Given the description of an element on the screen output the (x, y) to click on. 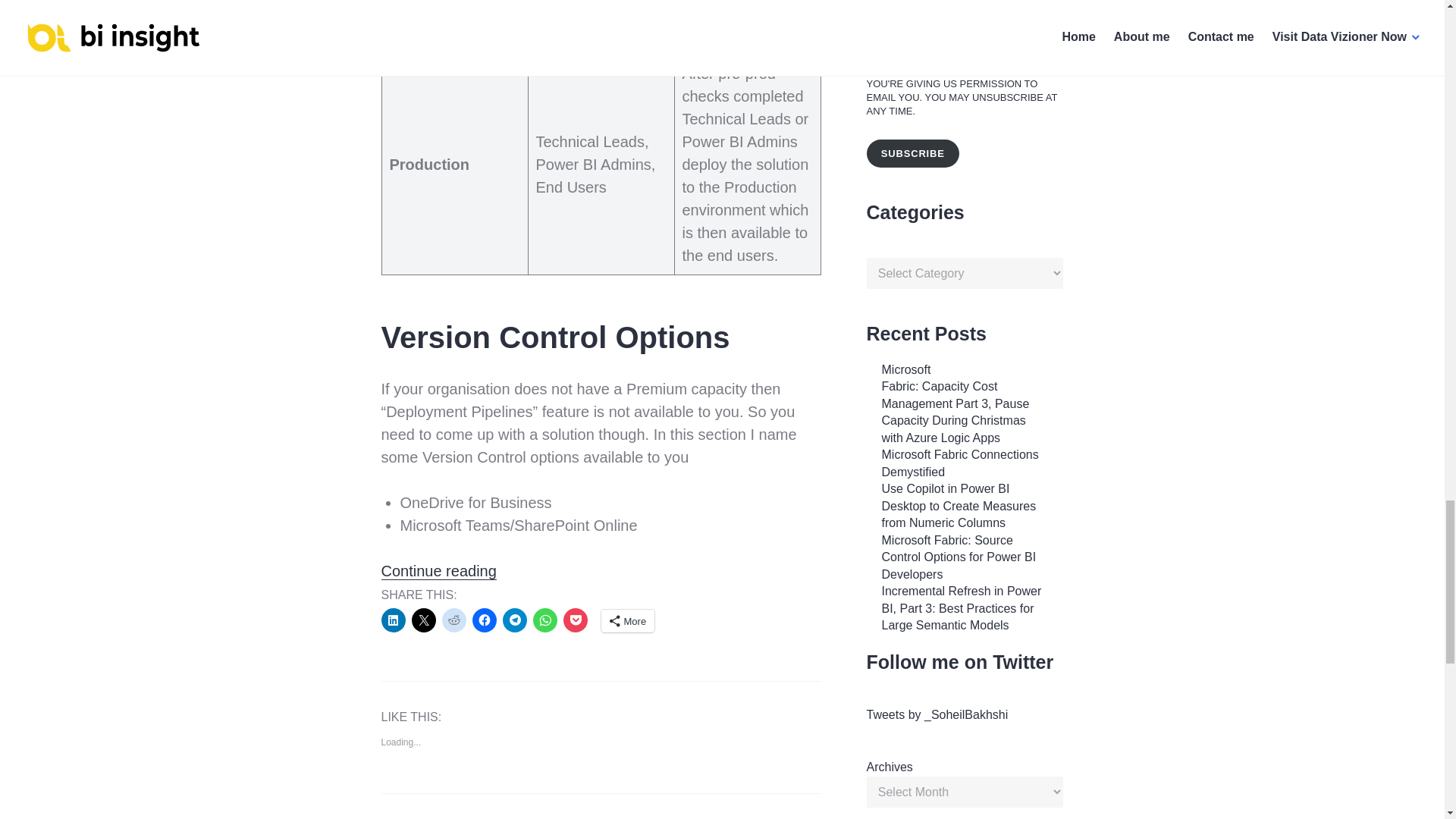
Click to share on Reddit (453, 620)
Click to share on WhatsApp (544, 620)
Click to share on Pocket (574, 620)
Click to share on X (422, 620)
Click to share on LinkedIn (392, 620)
Click to share on Facebook (483, 620)
More (626, 620)
Click to share on Telegram (513, 620)
